Given the description of an element on the screen output the (x, y) to click on. 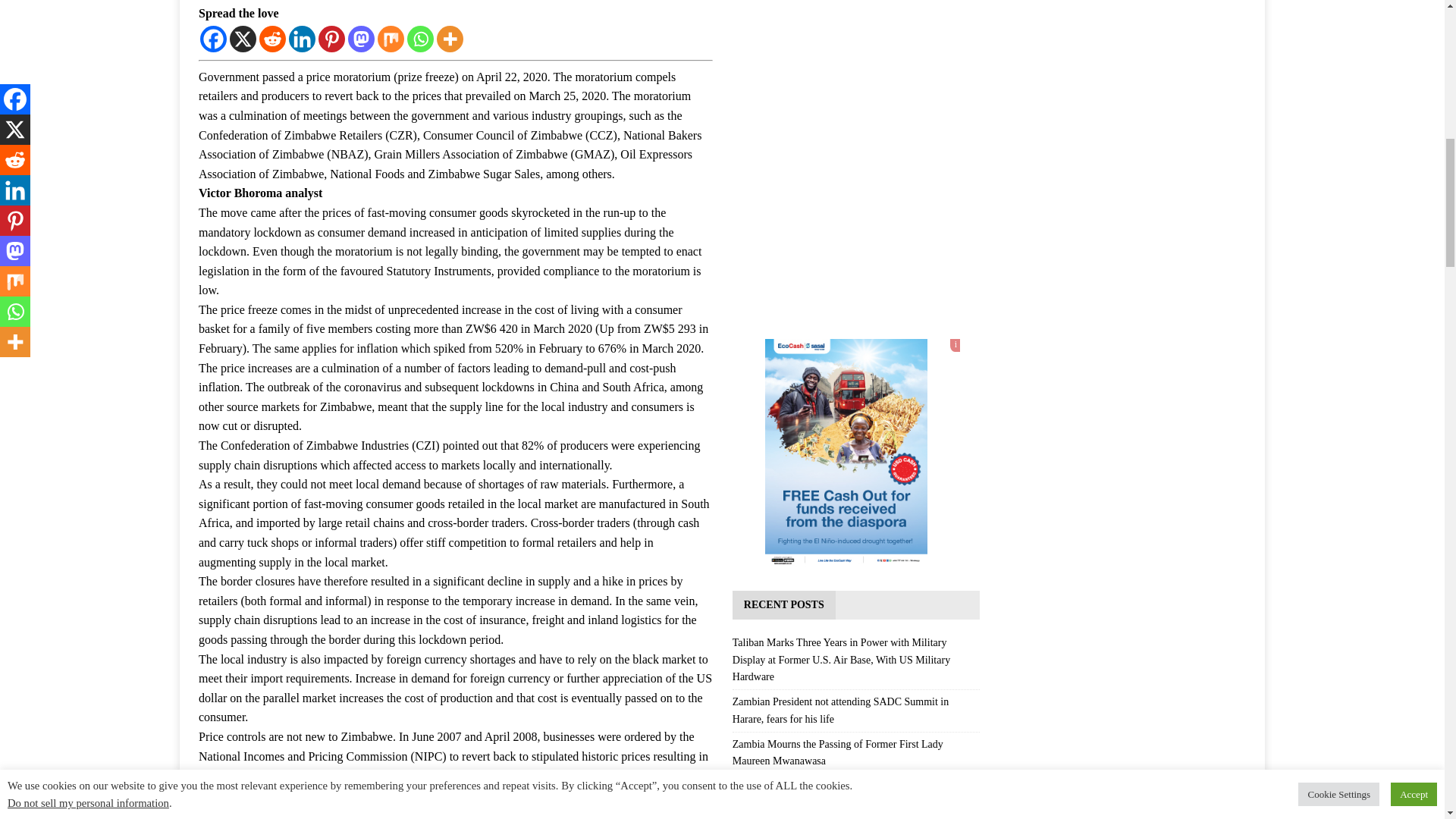
Whatsapp (420, 38)
Mix (390, 38)
Mastodon (360, 38)
Facebook (213, 38)
X (243, 38)
Linkedin (301, 38)
Pinterest (331, 38)
Reddit (272, 38)
